Given the description of an element on the screen output the (x, y) to click on. 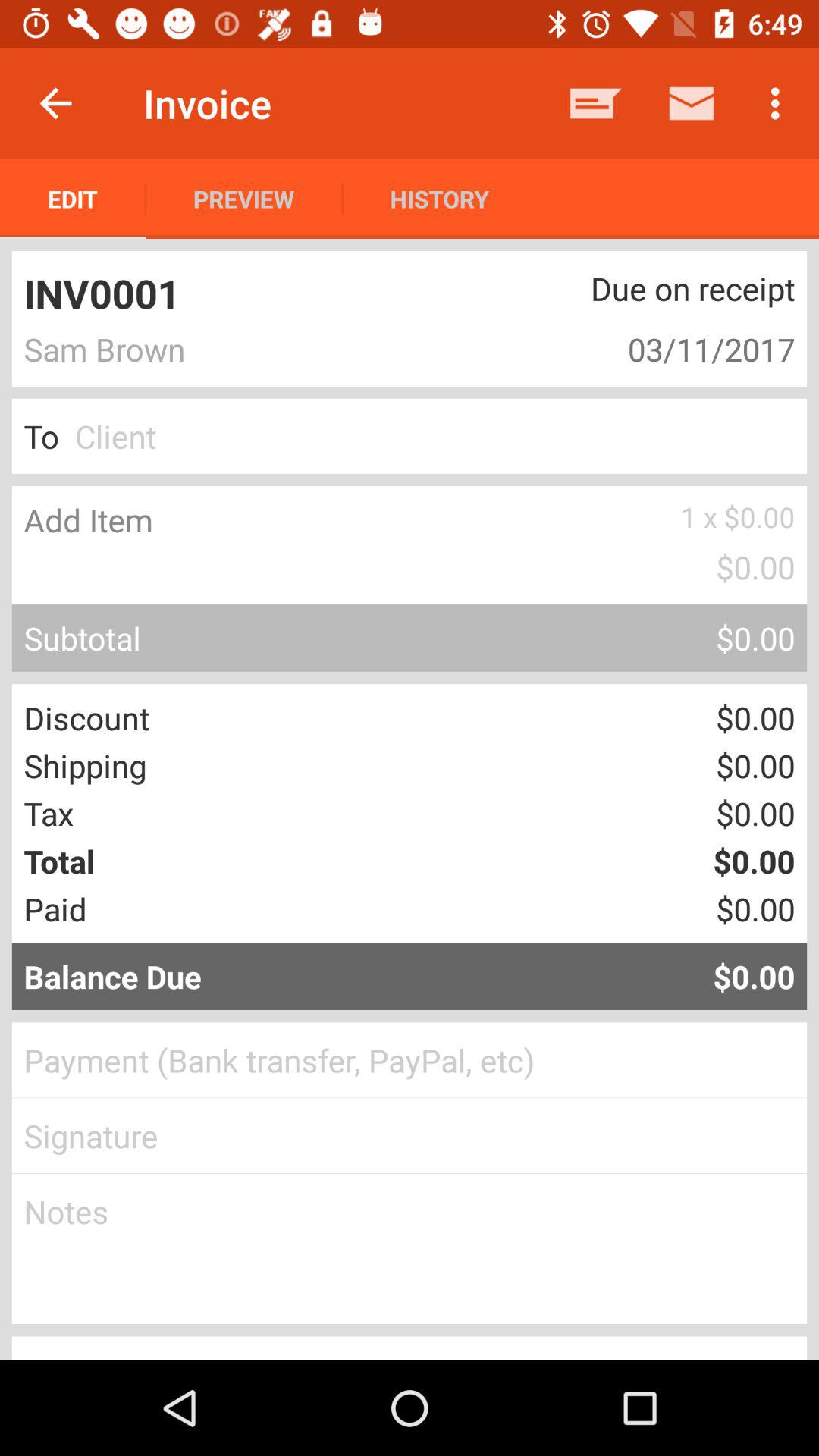
click item to the right of edit (243, 198)
